Given the description of an element on the screen output the (x, y) to click on. 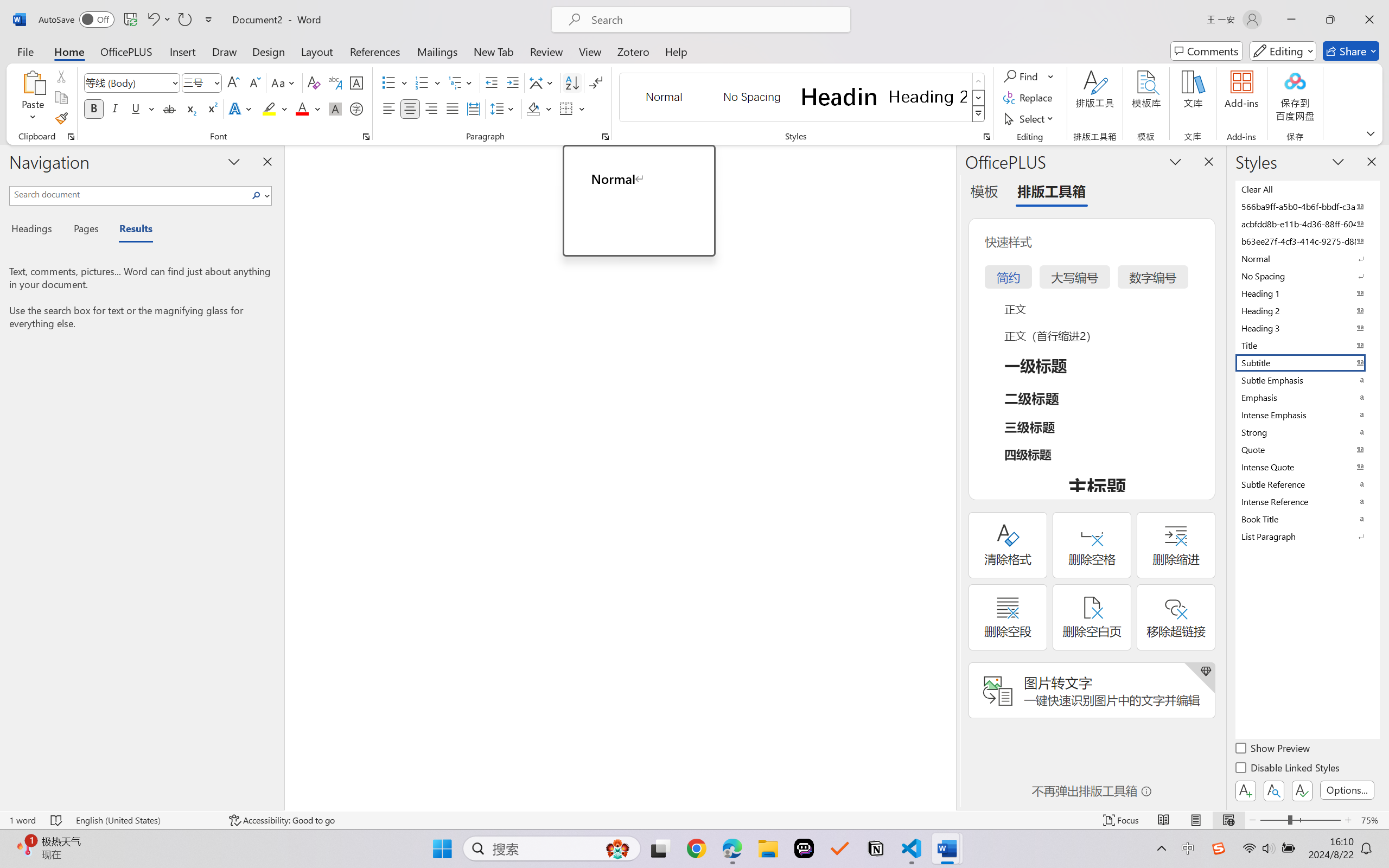
Title (1306, 345)
Heading 1 (839, 96)
Change Case (284, 82)
Draw (224, 51)
Subtle Emphasis (1306, 379)
Class: NetUIButton (1301, 790)
Share (1350, 51)
Emphasis (1306, 397)
Zoom In (1348, 819)
Text Highlight Color Yellow (269, 108)
Shading RGB(0, 0, 0) (533, 108)
Save (130, 19)
Web Layout (1228, 819)
